Given the description of an element on the screen output the (x, y) to click on. 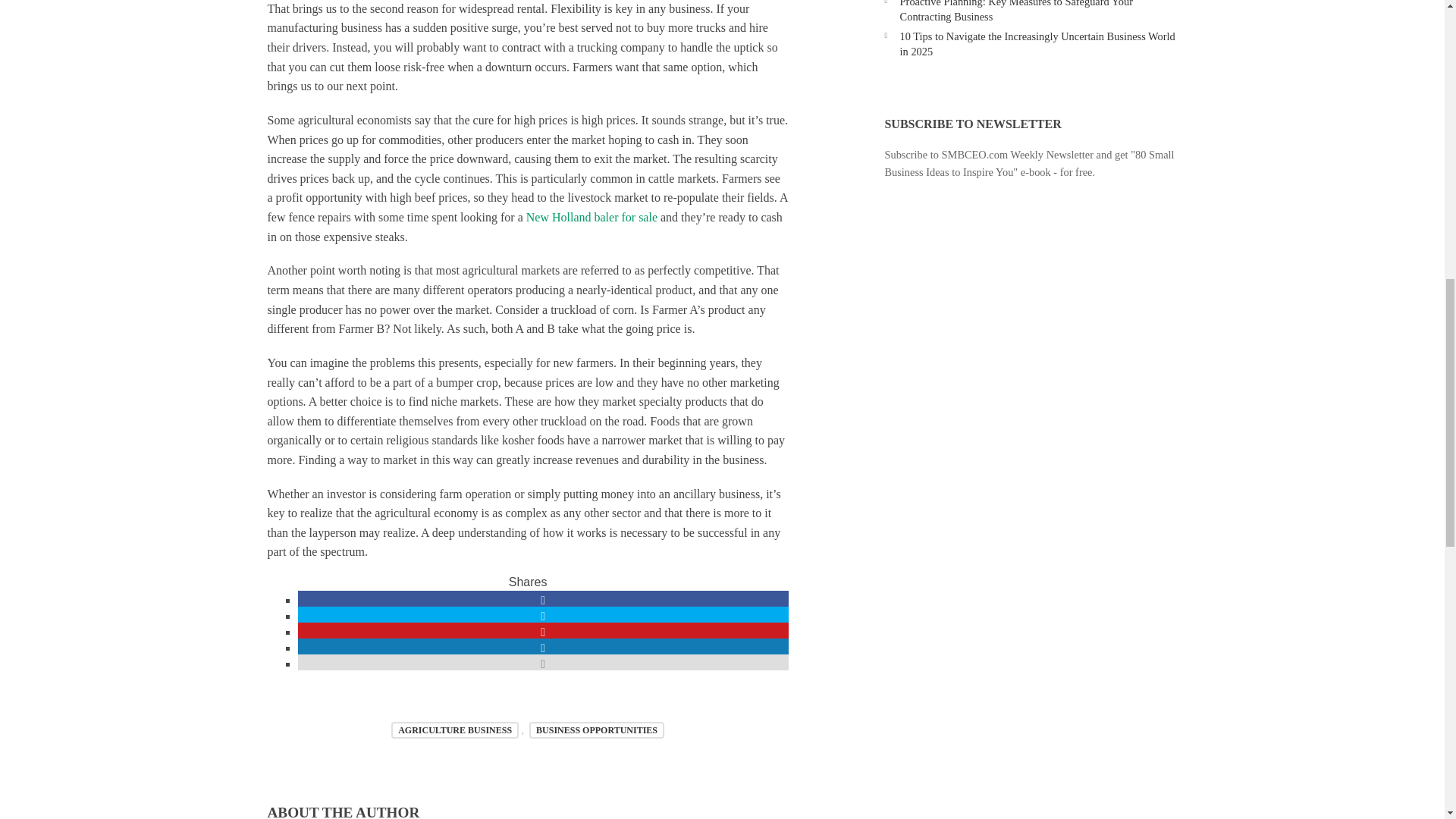
New Holland baler for sale (591, 216)
BUSINESS OPPORTUNITIES (596, 729)
AGRICULTURE BUSINESS (454, 729)
